Given the description of an element on the screen output the (x, y) to click on. 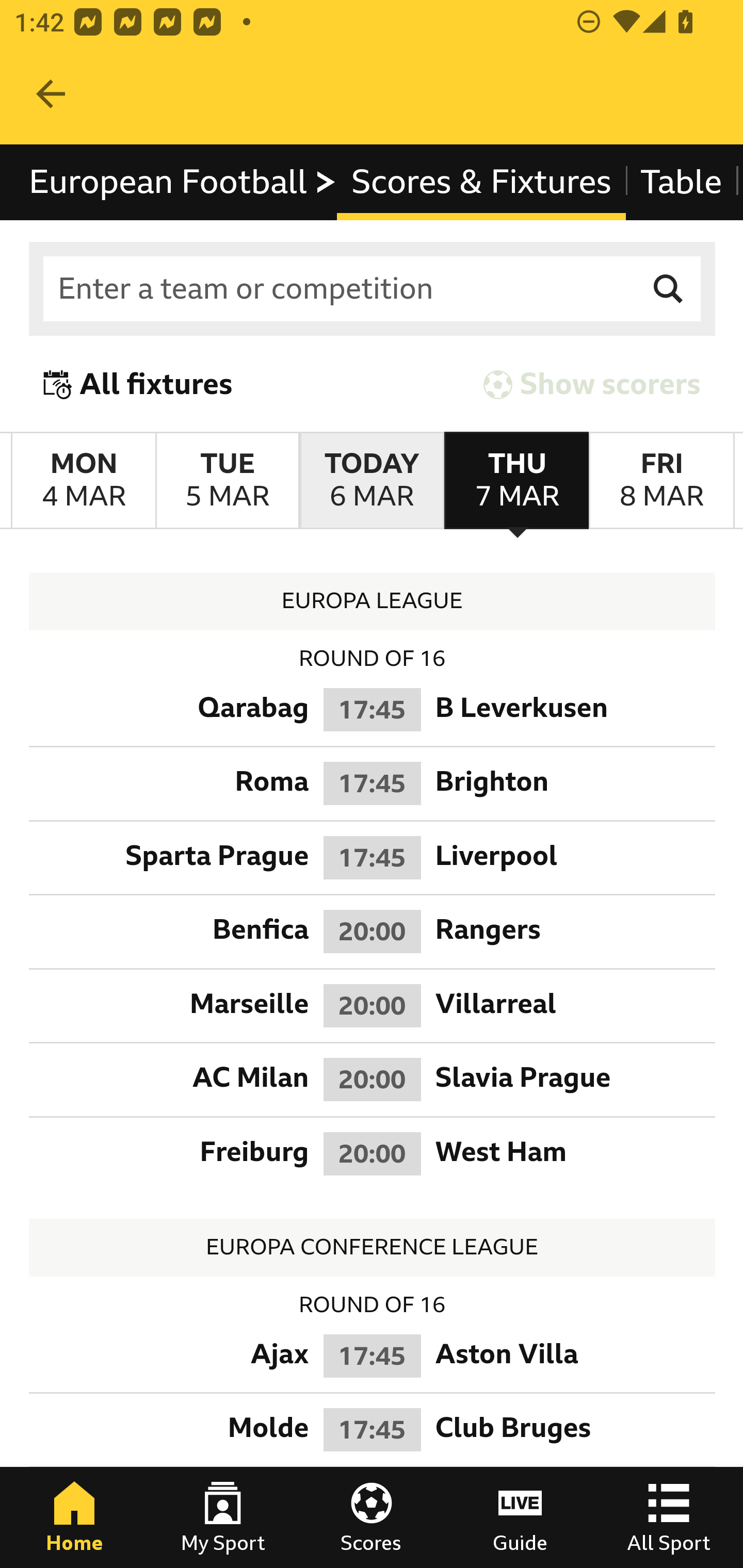
Navigate up (50, 93)
European Football  (182, 181)
Scores & Fixtures (480, 181)
Table (681, 181)
Search (669, 289)
All fixtures (137, 383)
Show scorers (591, 383)
MondayMarch 4th Monday March 4th (83, 480)
TuesdayMarch 5th Tuesday March 5th (227, 480)
TodayMarch 6th Today March 6th (371, 480)
FridayMarch 8th Friday March 8th (661, 480)
My Sport (222, 1517)
Scores (371, 1517)
Guide (519, 1517)
All Sport (668, 1517)
